Given the description of an element on the screen output the (x, y) to click on. 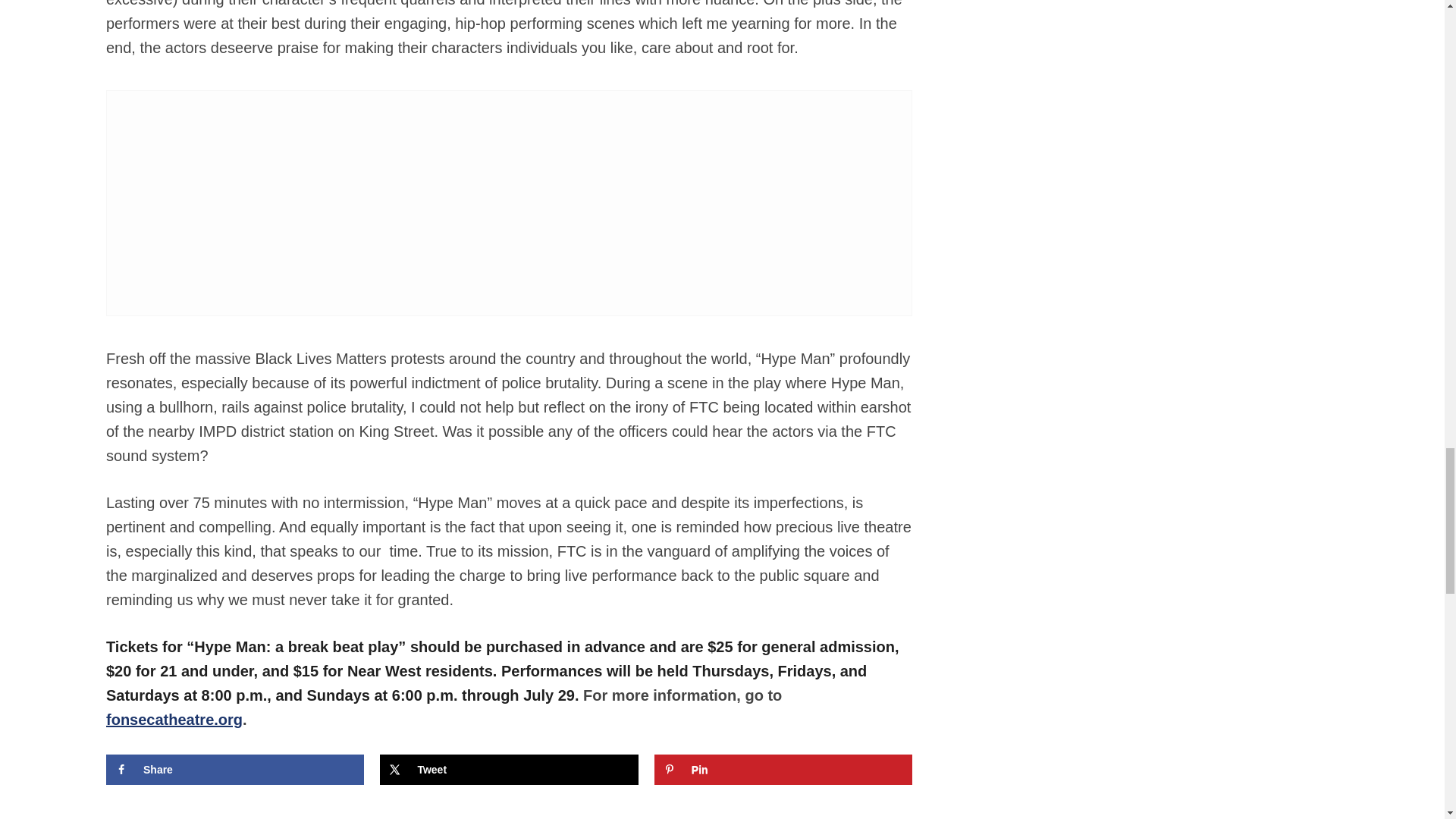
Share on X (508, 769)
Share (235, 769)
fonsecatheatre.org (174, 719)
Pin (782, 769)
Tweet (508, 769)
Save to Pinterest (782, 769)
Share on Facebook (235, 769)
